Given the description of an element on the screen output the (x, y) to click on. 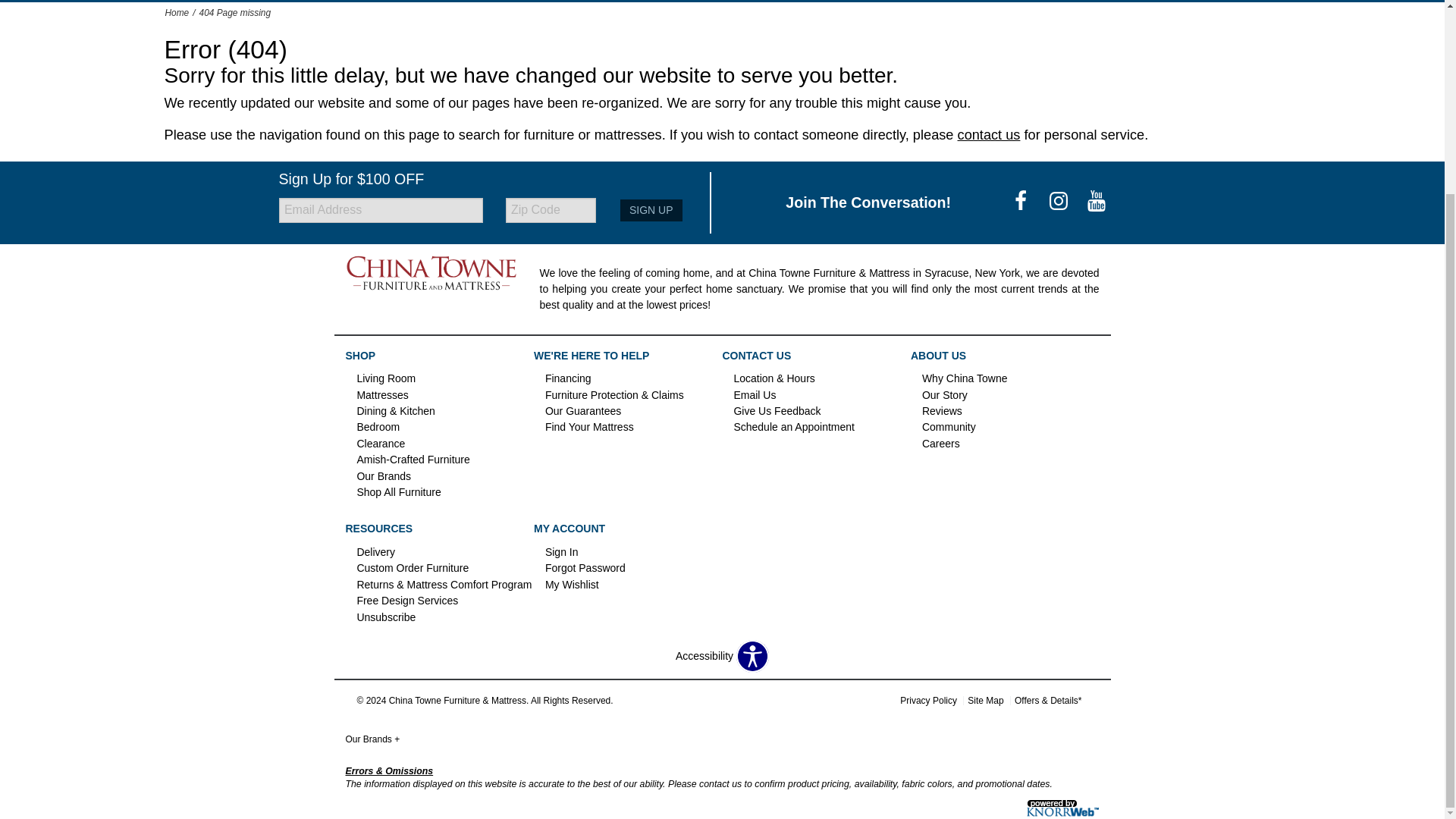
Visit Our Instagram Page (1060, 201)
LIVING ROOM (417, 1)
Visit Our Youtube Page (1096, 201)
Visit Our Facebook Page (1022, 201)
